Given the description of an element on the screen output the (x, y) to click on. 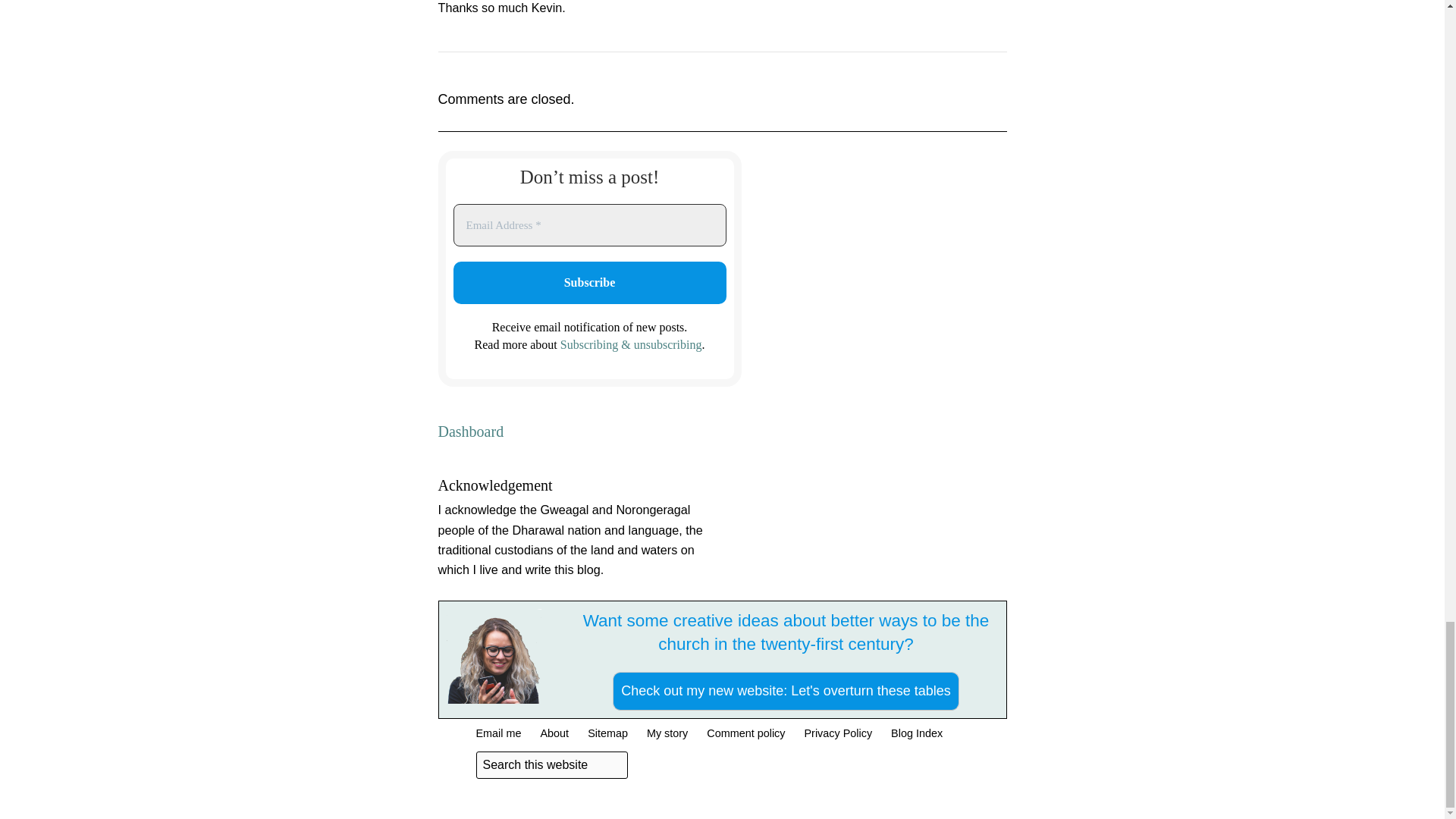
Search this website (551, 764)
Email Address (589, 225)
Subscribe (589, 282)
